Given the description of an element on the screen output the (x, y) to click on. 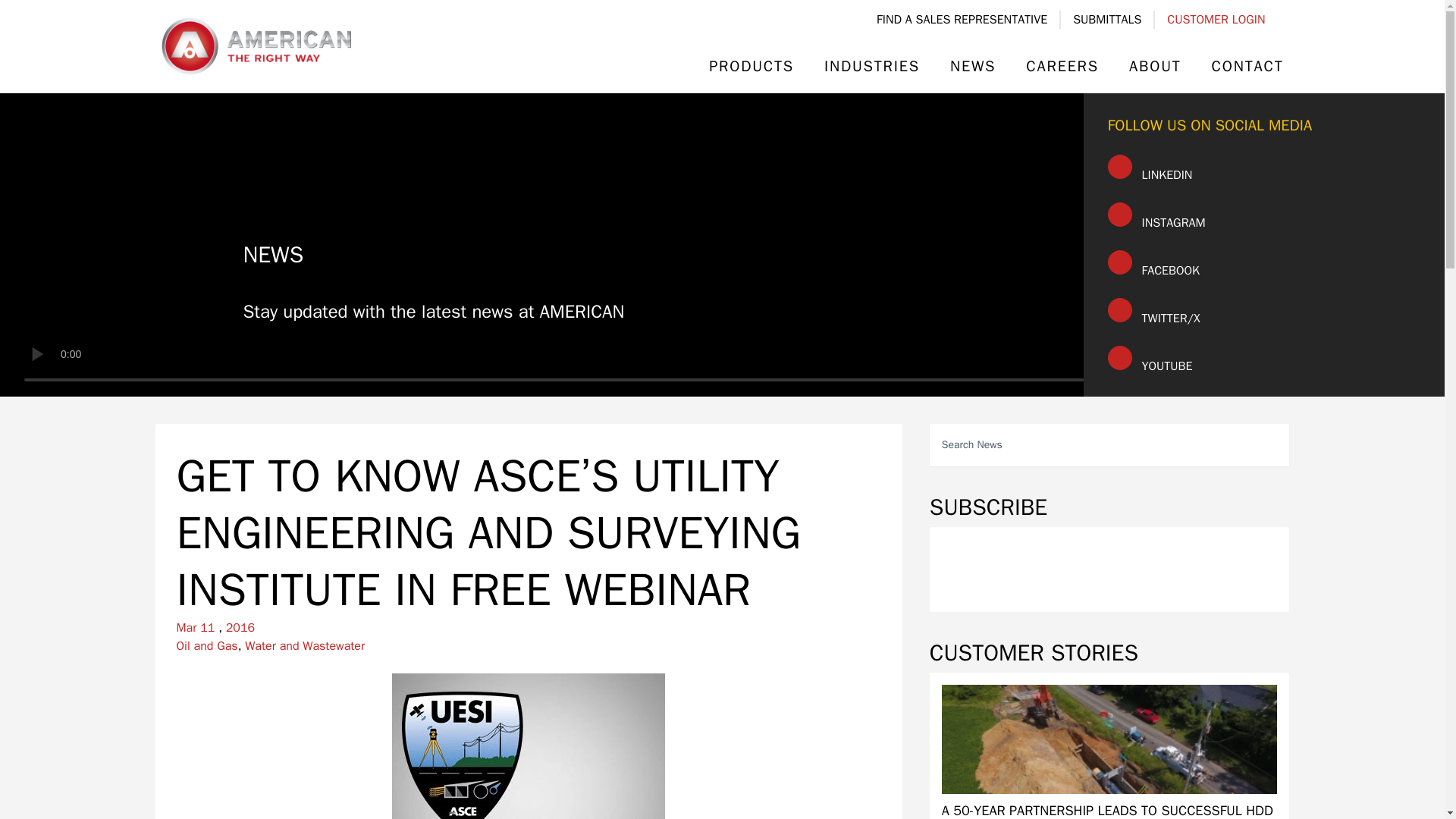
Home (255, 45)
INDUSTRIES (871, 66)
CUSTOMER LOGIN (1215, 19)
LINKEDIN (1150, 169)
FIND A SALES REPRESENTATIVE (961, 19)
CONTACT (1240, 66)
ABOUT (1154, 66)
SUBMITTALS (1107, 19)
